Given the description of an element on the screen output the (x, y) to click on. 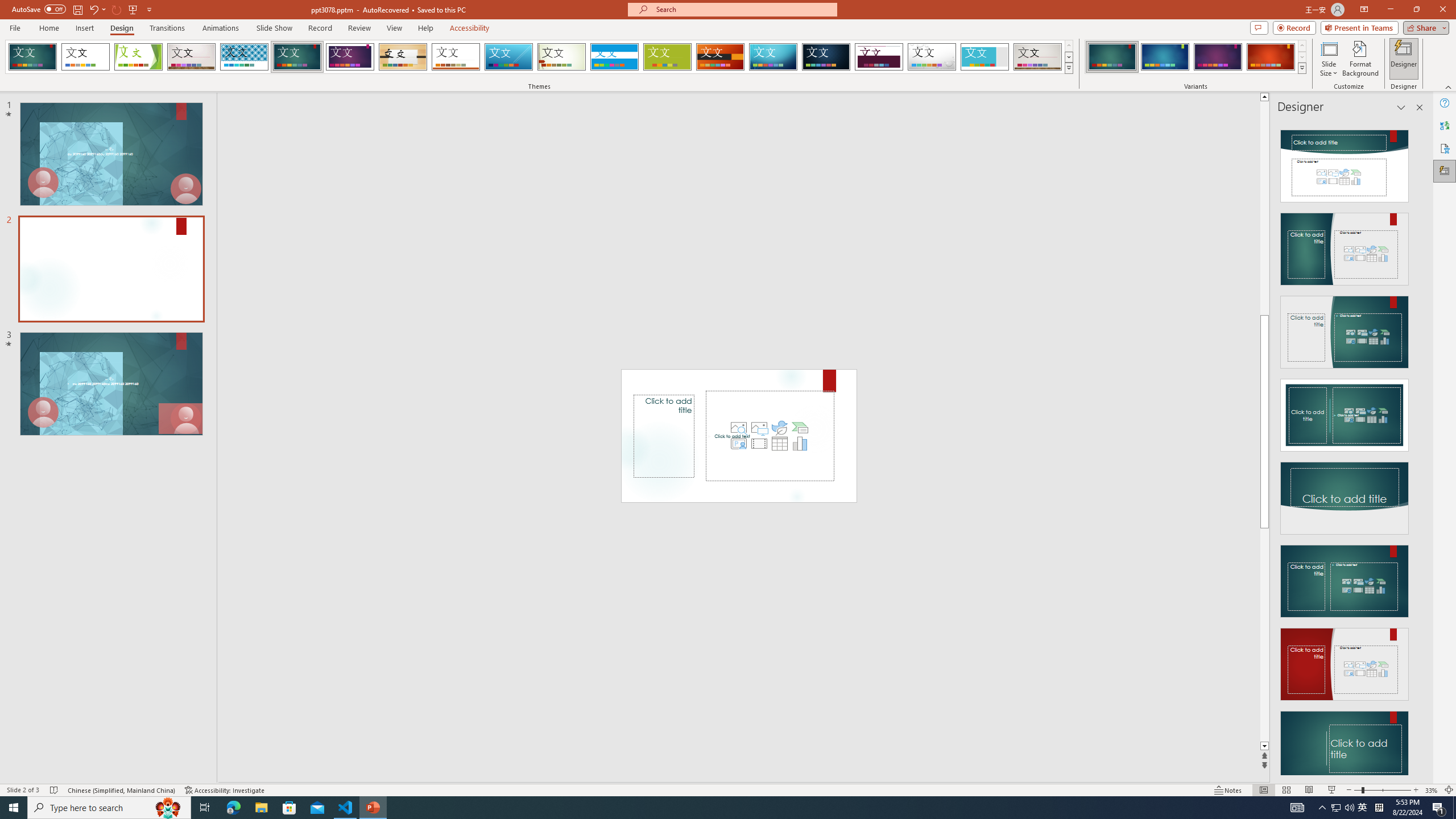
Gallery (1037, 56)
AutomationID: SlideThemesGallery (539, 56)
Frame (984, 56)
Insert Table (779, 443)
Class: NetUIScrollBar (1418, 447)
Ion (296, 56)
